Given the description of an element on the screen output the (x, y) to click on. 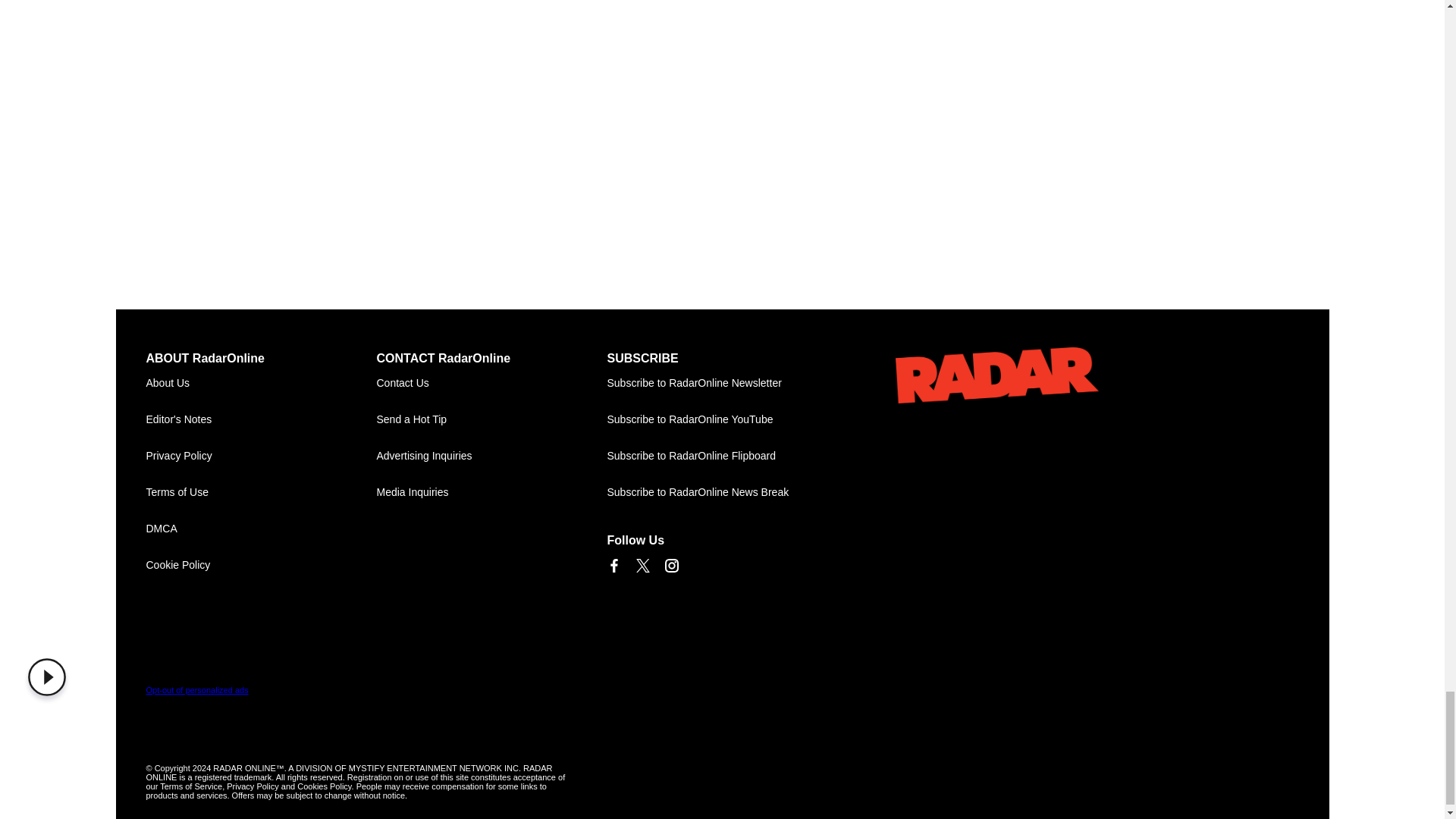
Link to X (641, 565)
Terms of Use (260, 493)
Editor's Notes (260, 420)
Cookie Policy (260, 565)
DMCA (260, 529)
About Us (260, 383)
Privacy Policy (260, 456)
Link to Instagram (670, 565)
Link to Facebook (613, 565)
